Given the description of an element on the screen output the (x, y) to click on. 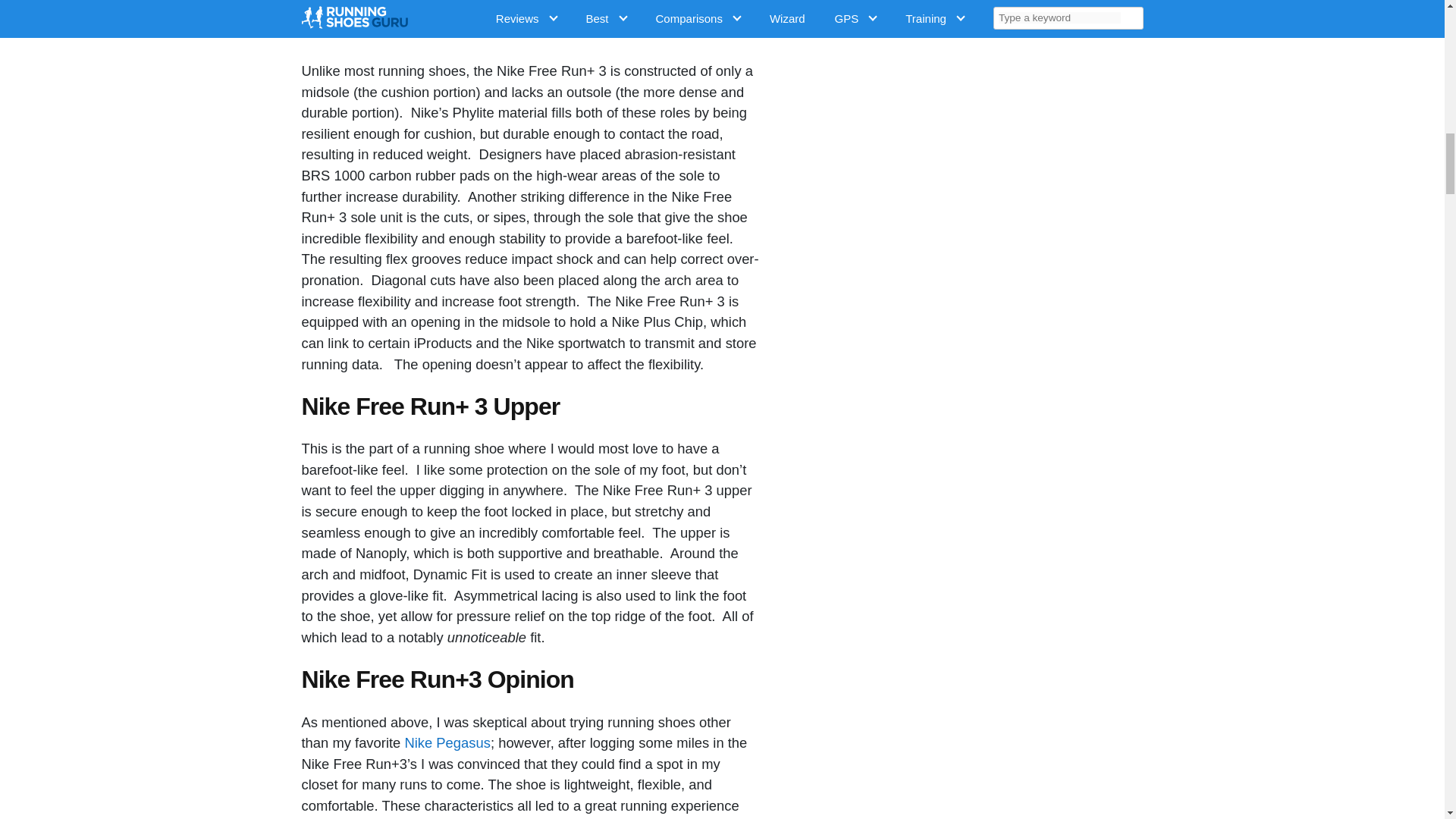
Nike Zoom Pegasus 29 Review (446, 742)
